Given the description of an element on the screen output the (x, y) to click on. 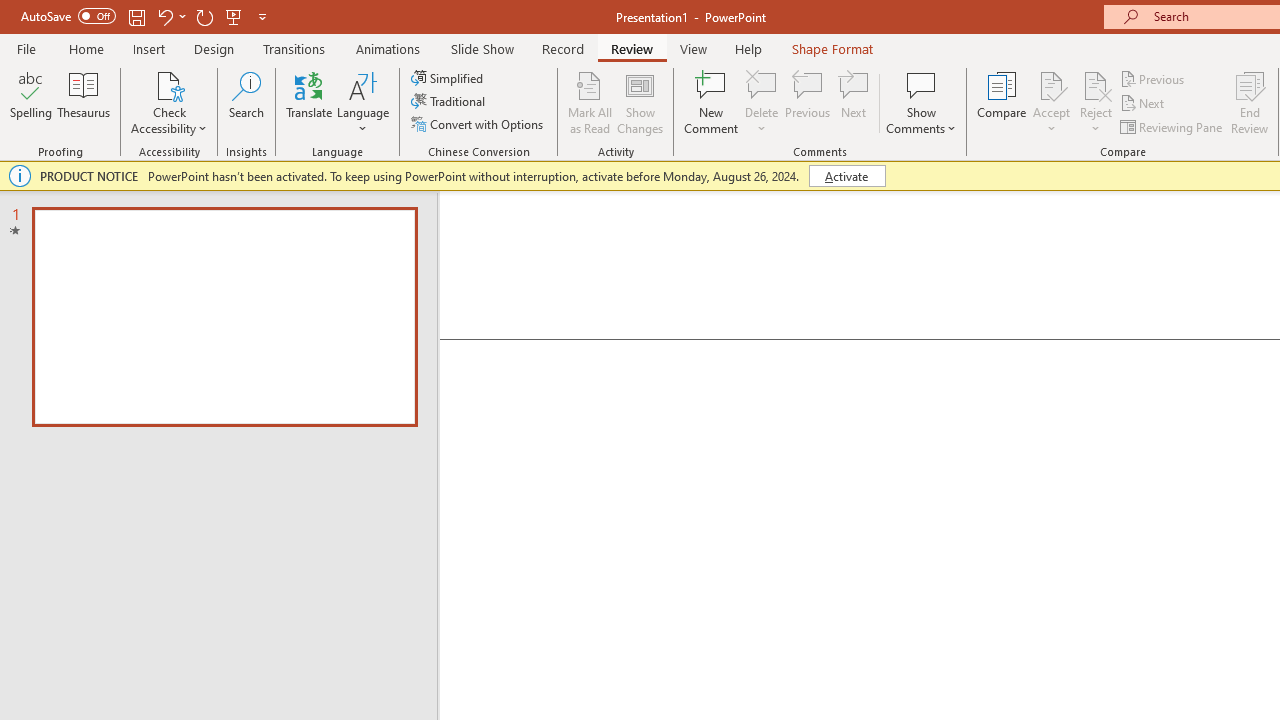
Next (1144, 103)
